Given the description of an element on the screen output the (x, y) to click on. 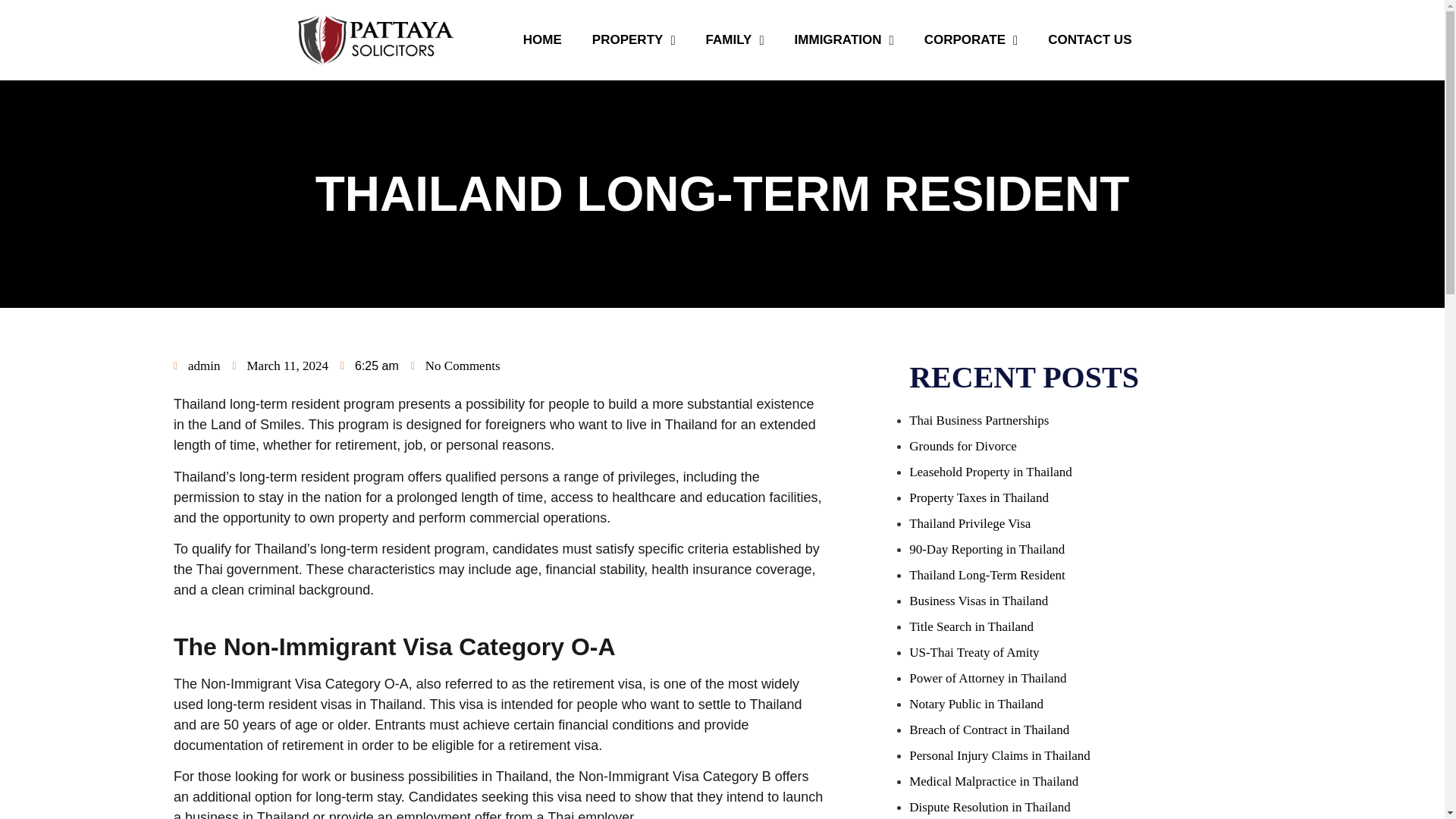
IMMIGRATION (843, 39)
CONTACT US (1089, 39)
PROPERTY (633, 39)
HOME (542, 39)
FAMILY (734, 39)
CORPORATE (970, 39)
